Given the description of an element on the screen output the (x, y) to click on. 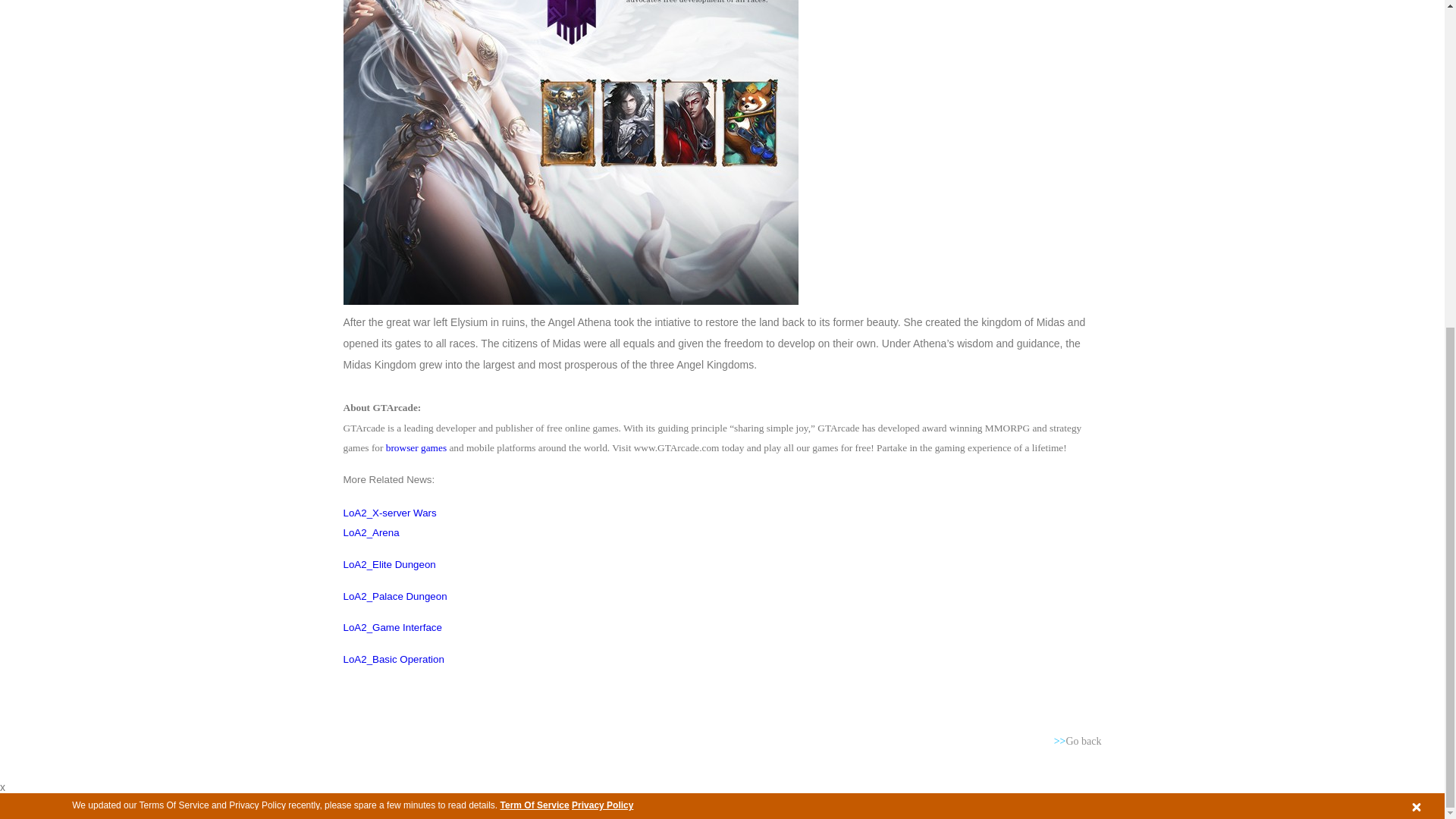
browser games (415, 447)
Privacy Policy (602, 265)
Term Of Service (534, 265)
